Given the description of an element on the screen output the (x, y) to click on. 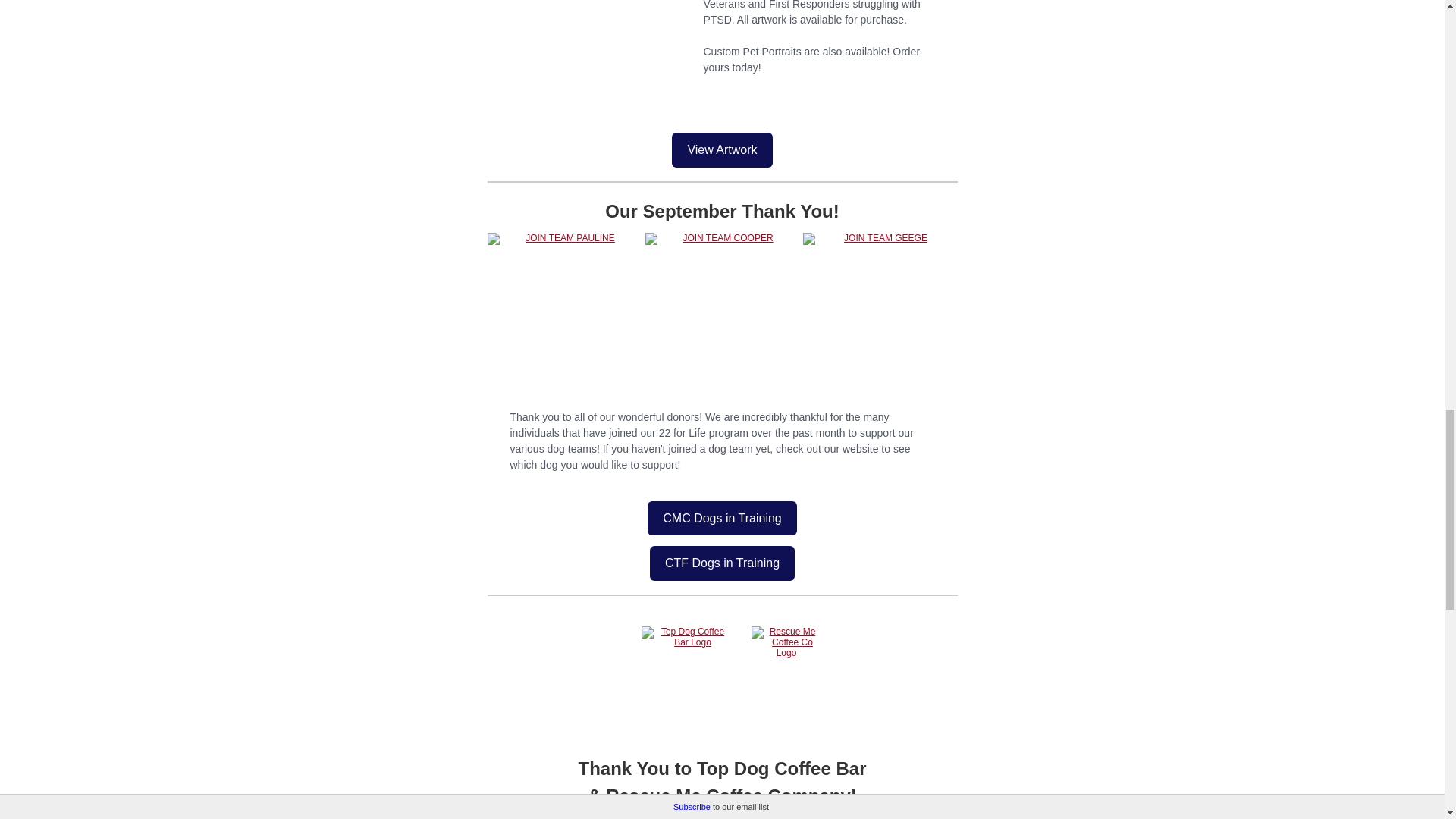
CTF Dogs in Training (721, 563)
CMC Dogs in Training (721, 518)
View Artwork (721, 150)
